Given the description of an element on the screen output the (x, y) to click on. 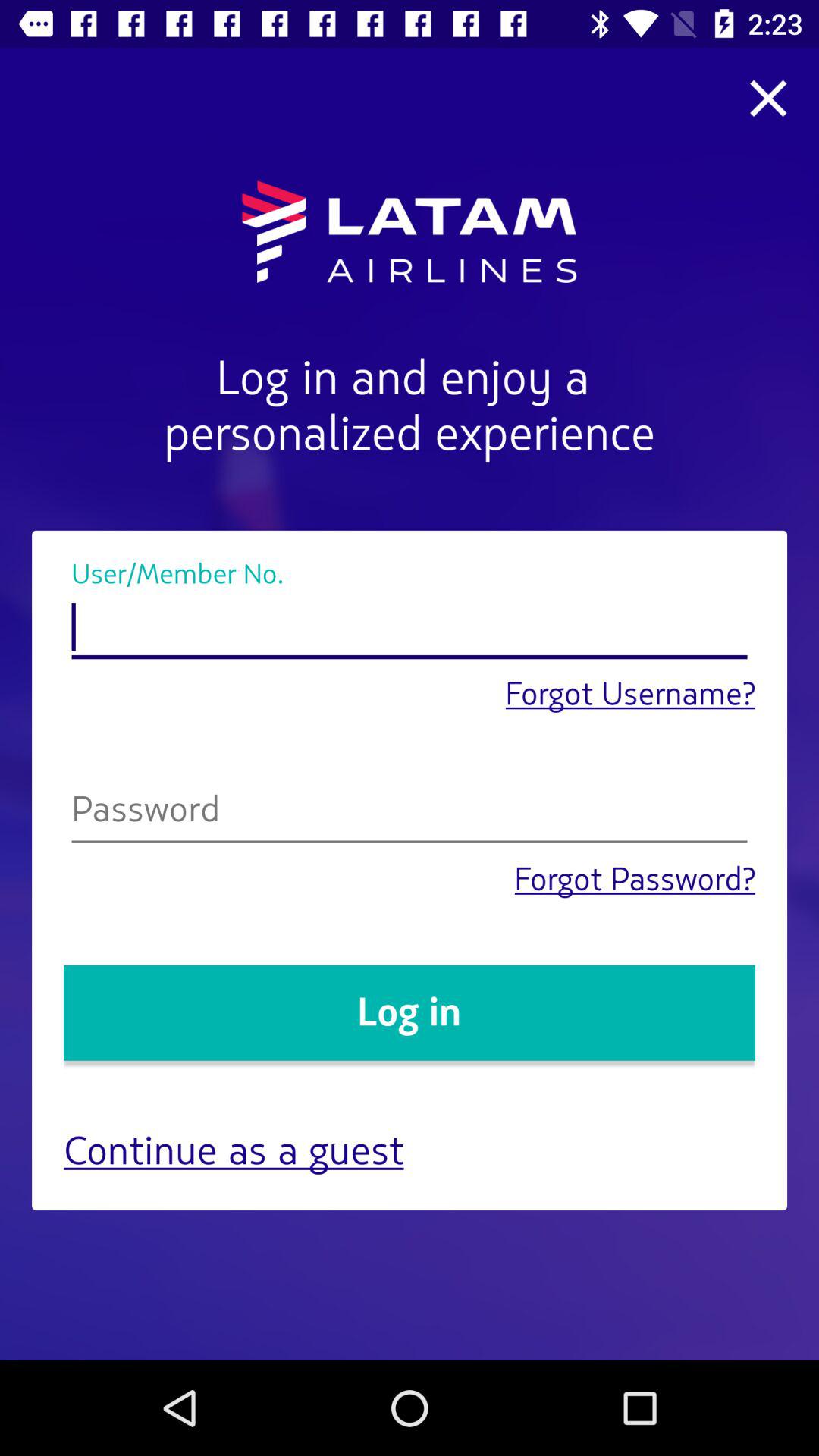
password selection (409, 813)
